Given the description of an element on the screen output the (x, y) to click on. 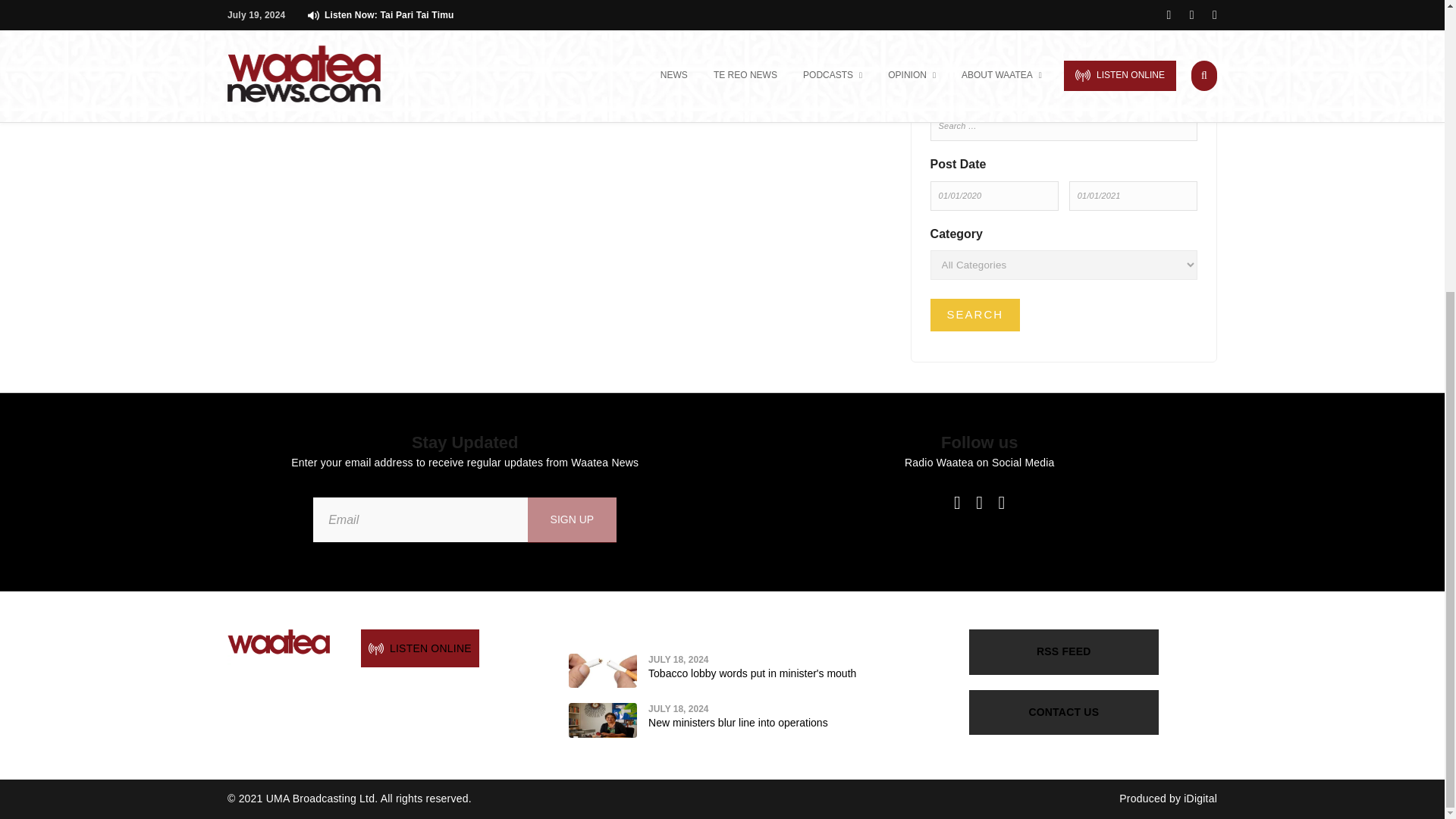
Instagram (1000, 502)
Twitter (978, 502)
Search (975, 314)
Facebook (956, 502)
